Given the description of an element on the screen output the (x, y) to click on. 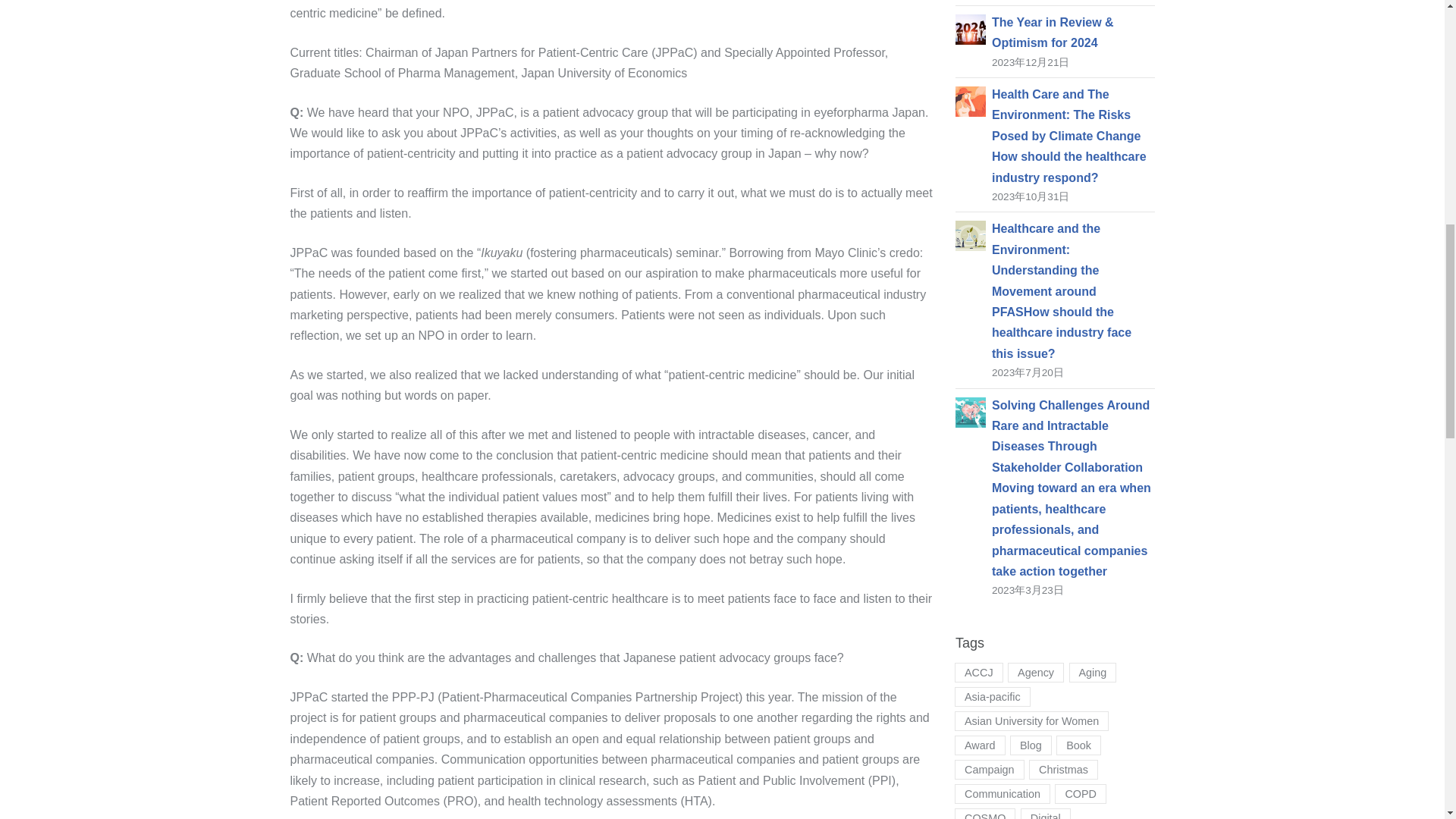
Aging (1091, 672)
ACCJ (979, 672)
Agency (1035, 672)
